Given the description of an element on the screen output the (x, y) to click on. 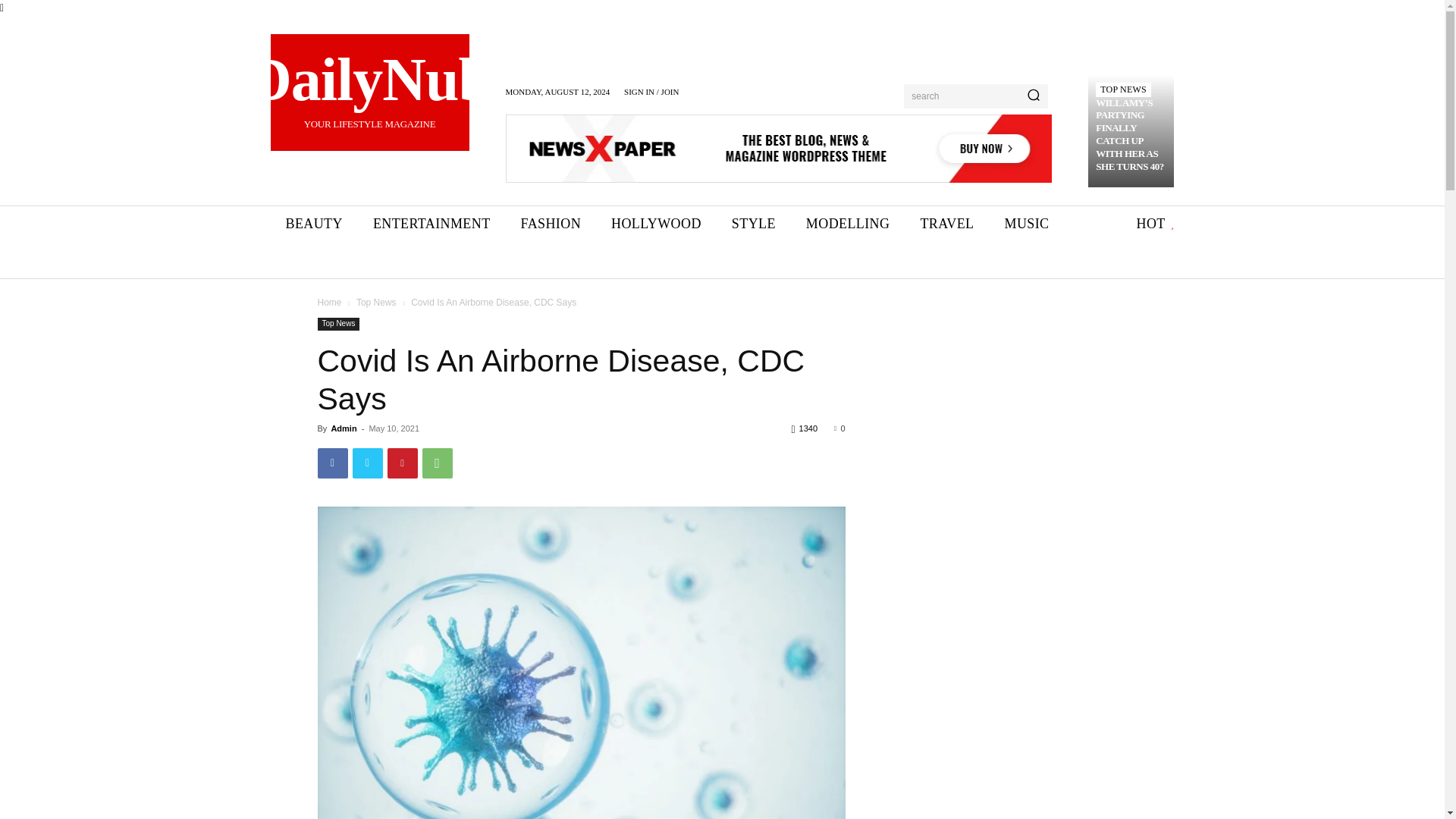
ENTERTAINMENT (431, 223)
BEAUTY (368, 92)
TOP NEWS (312, 223)
